Given the description of an element on the screen output the (x, y) to click on. 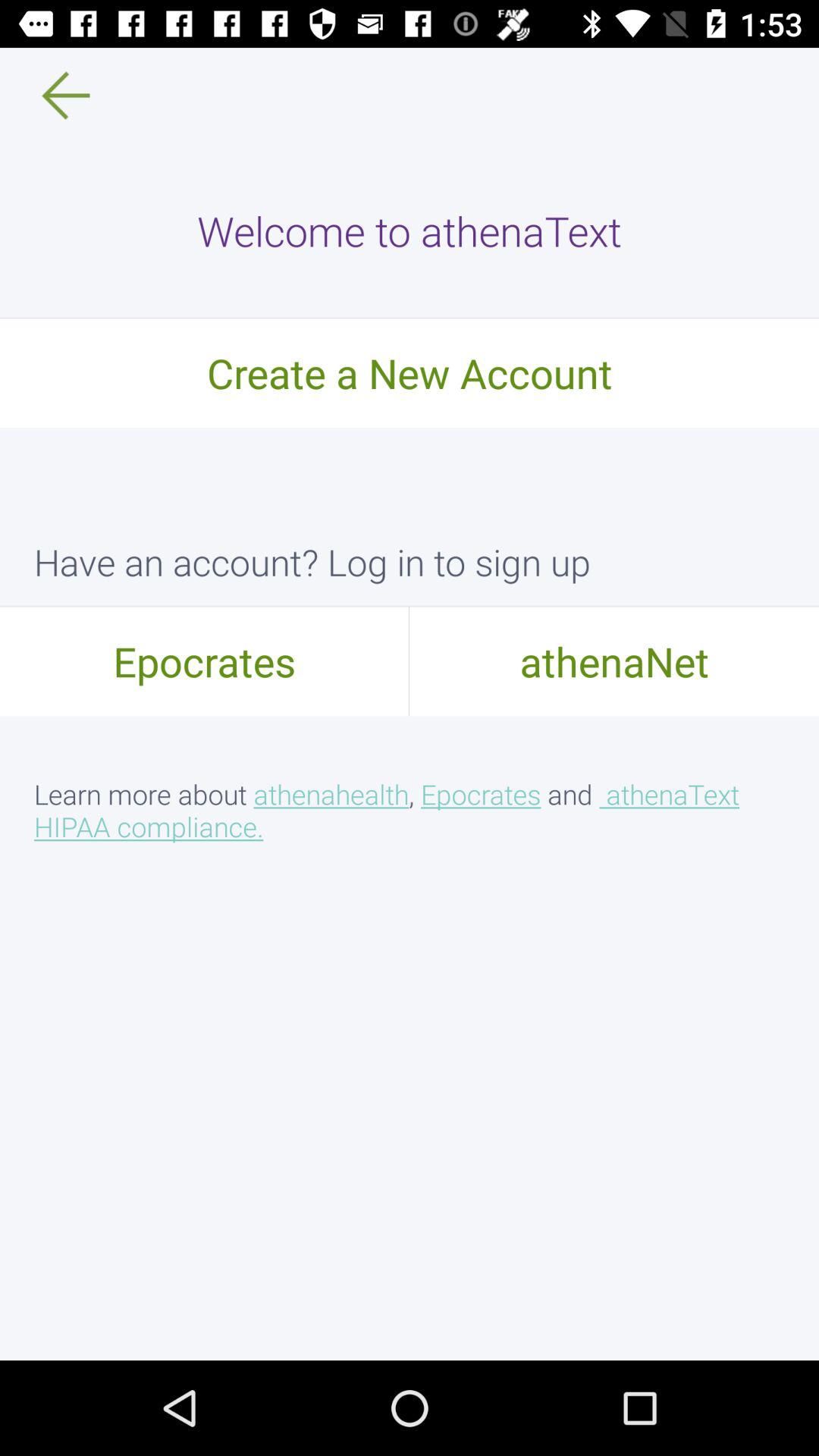
turn off the athenanet (614, 661)
